Given the description of an element on the screen output the (x, y) to click on. 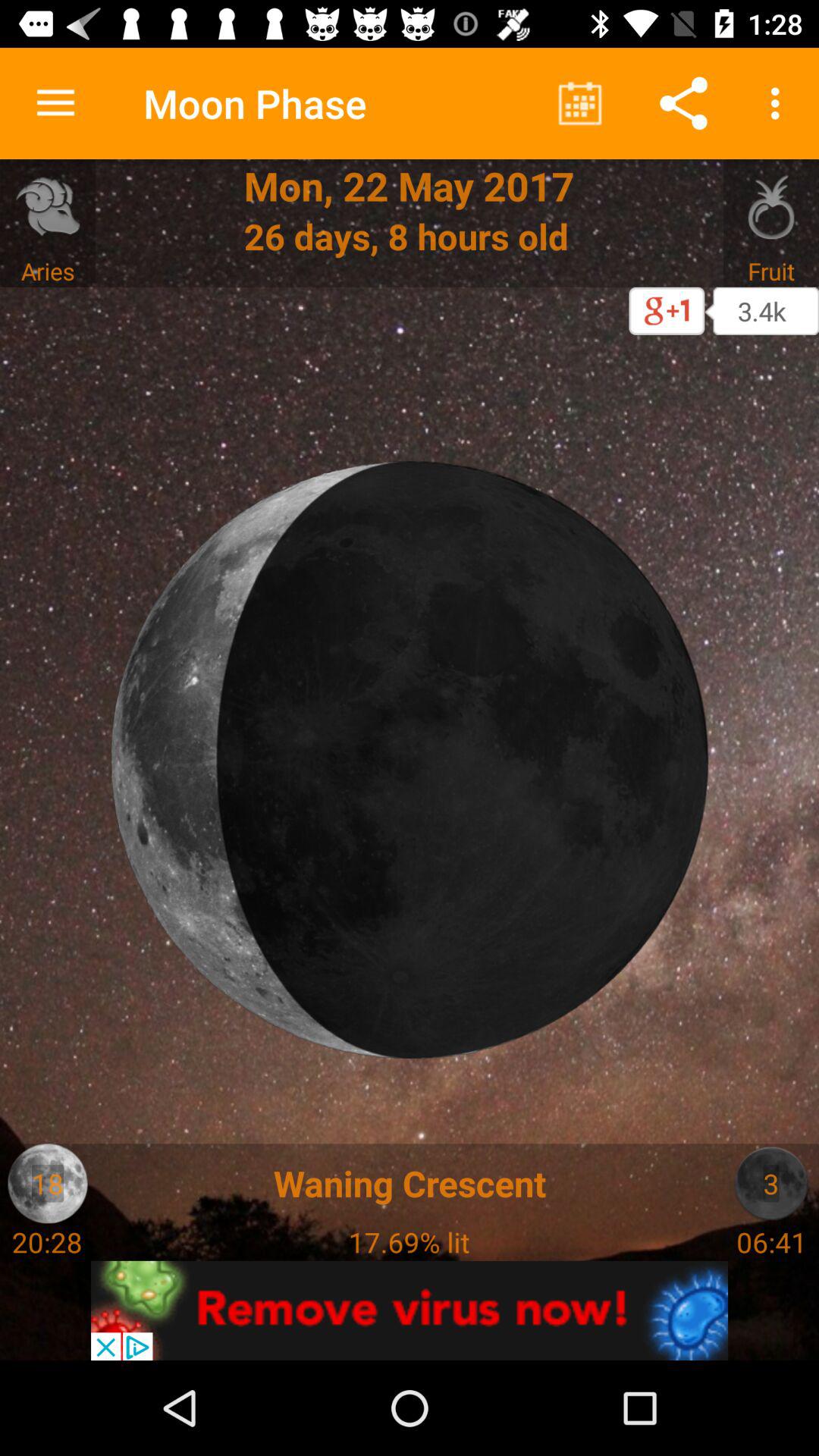
remove virus now (409, 1310)
